Given the description of an element on the screen output the (x, y) to click on. 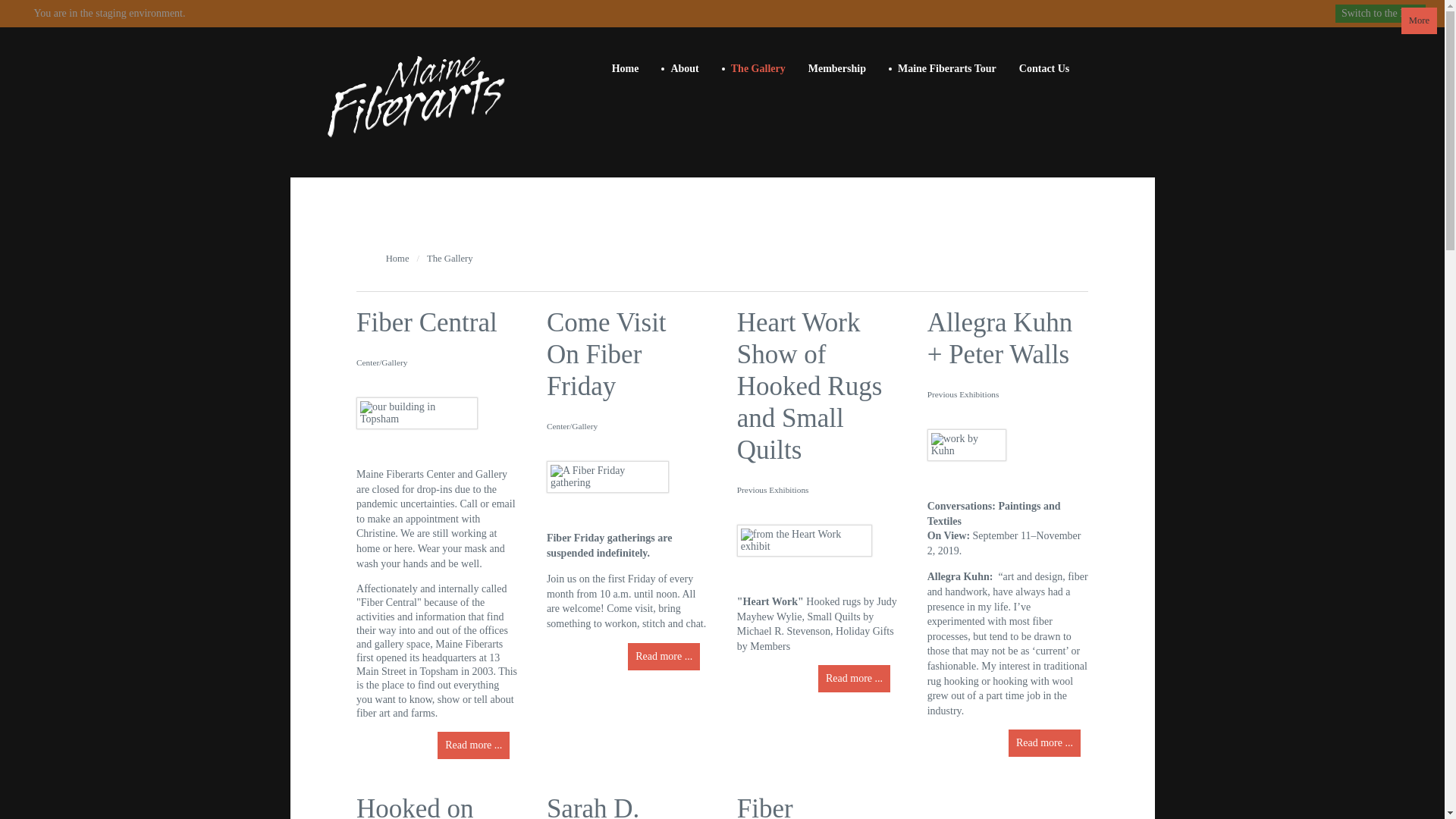
Come Visit On Fiber Friday (606, 354)
Fiber Central (426, 322)
Read more ... (663, 656)
Contact Us (1044, 68)
Previous Exhibitions (962, 393)
Fiber Collective Members Show (790, 806)
Read more ... (1044, 742)
Hooked on Spring (415, 806)
Switch to the Live (1380, 13)
Sarah D. Haskell Collected Works (597, 806)
Home (397, 258)
Heart Work Show of Hooked Rugs and Small Quilts (809, 386)
The Gallery (753, 68)
Read more ... (473, 745)
Category:  (381, 362)
